Given the description of an element on the screen output the (x, y) to click on. 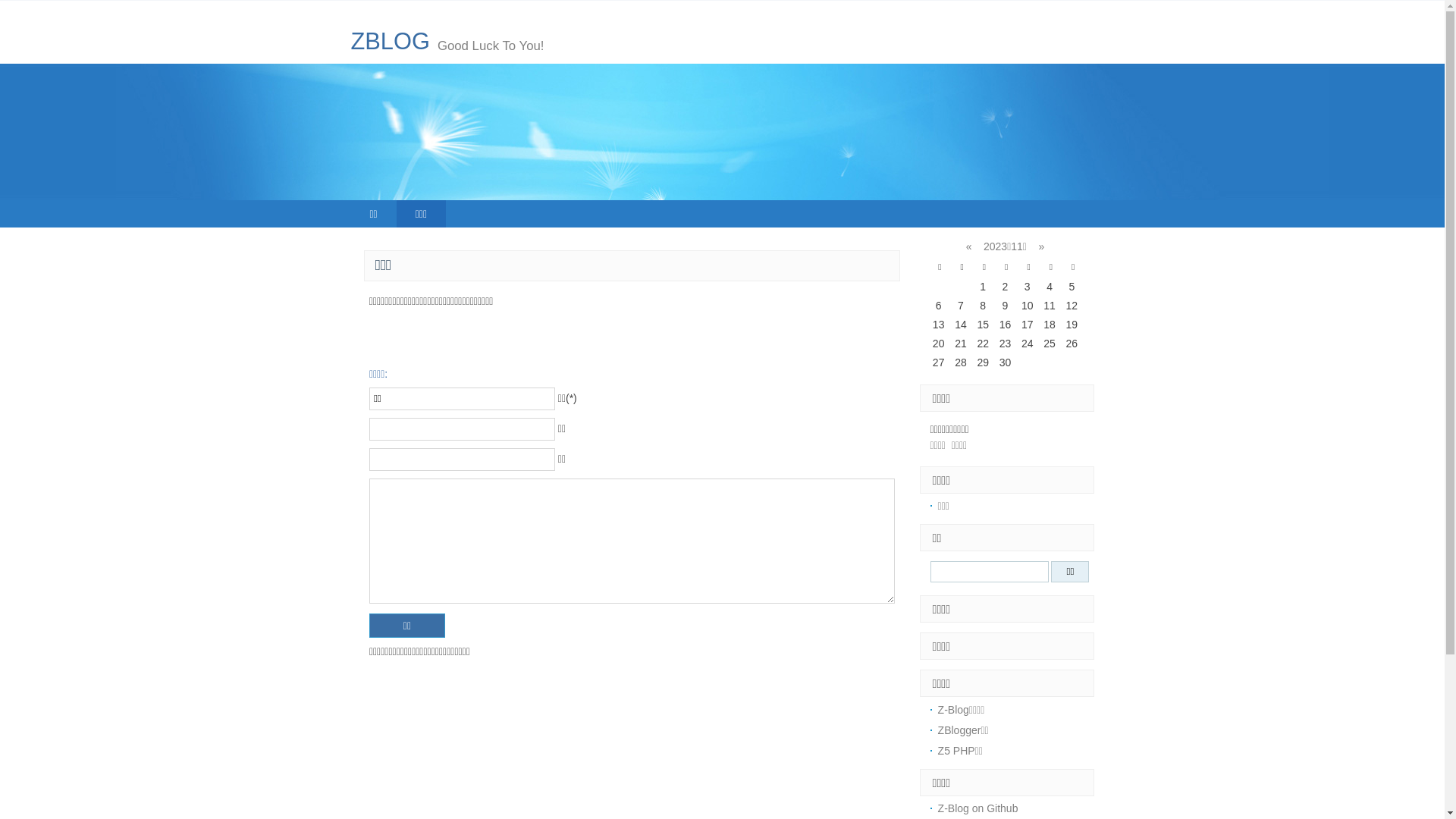
Z-Blog on Github Element type: text (978, 808)
ZBLOG Element type: text (389, 41)
